Given the description of an element on the screen output the (x, y) to click on. 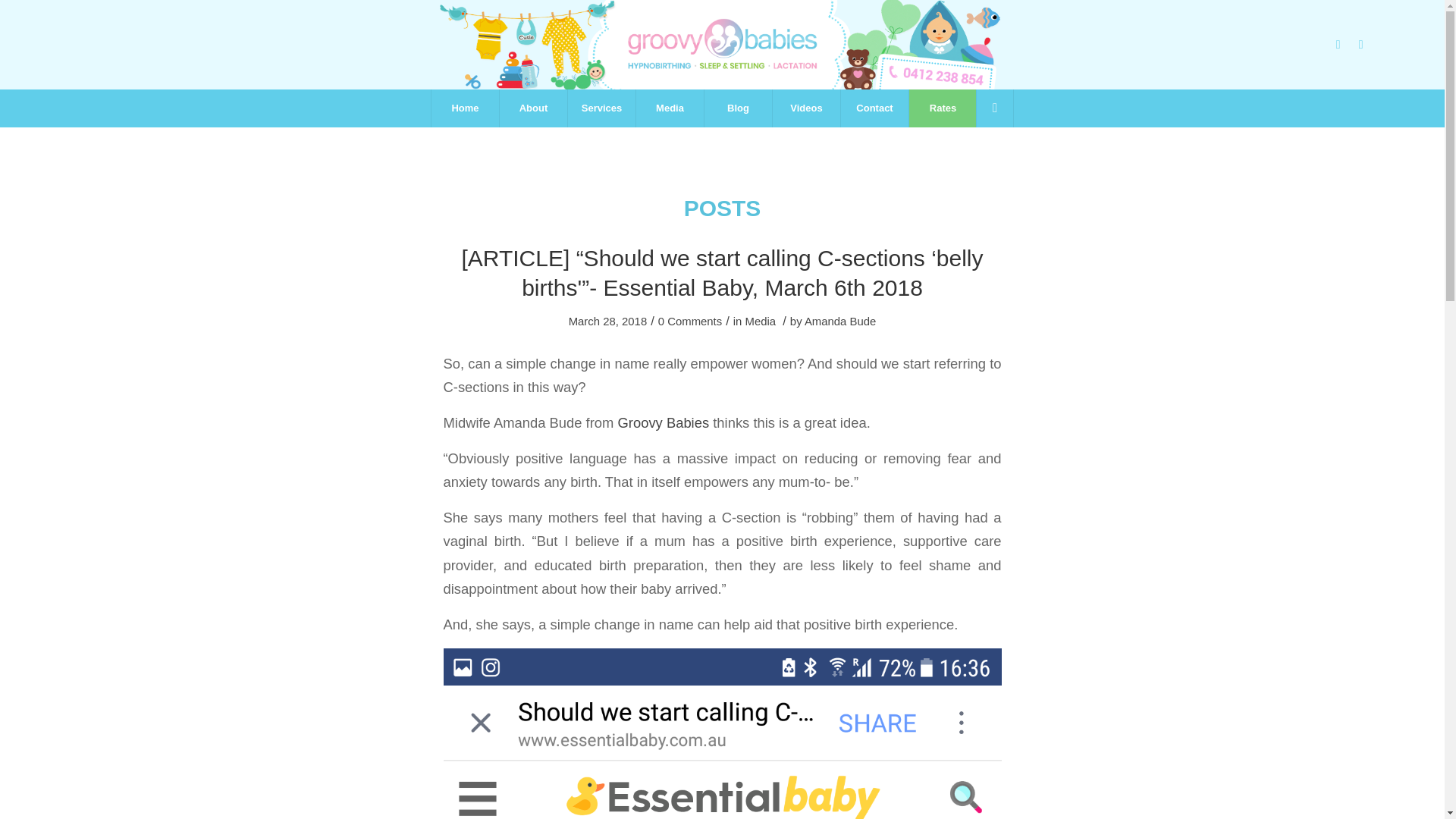
Services (600, 108)
Blog (737, 108)
Instagram (1361, 44)
0 Comments (690, 321)
Rates (942, 108)
Videos (805, 108)
Home (464, 108)
Facebook (1337, 44)
Posts by Amanda Bude (840, 321)
Contact (874, 108)
About (533, 108)
Media (668, 108)
Groovy Babies (663, 422)
Media (760, 321)
Amanda Bude (840, 321)
